Given the description of an element on the screen output the (x, y) to click on. 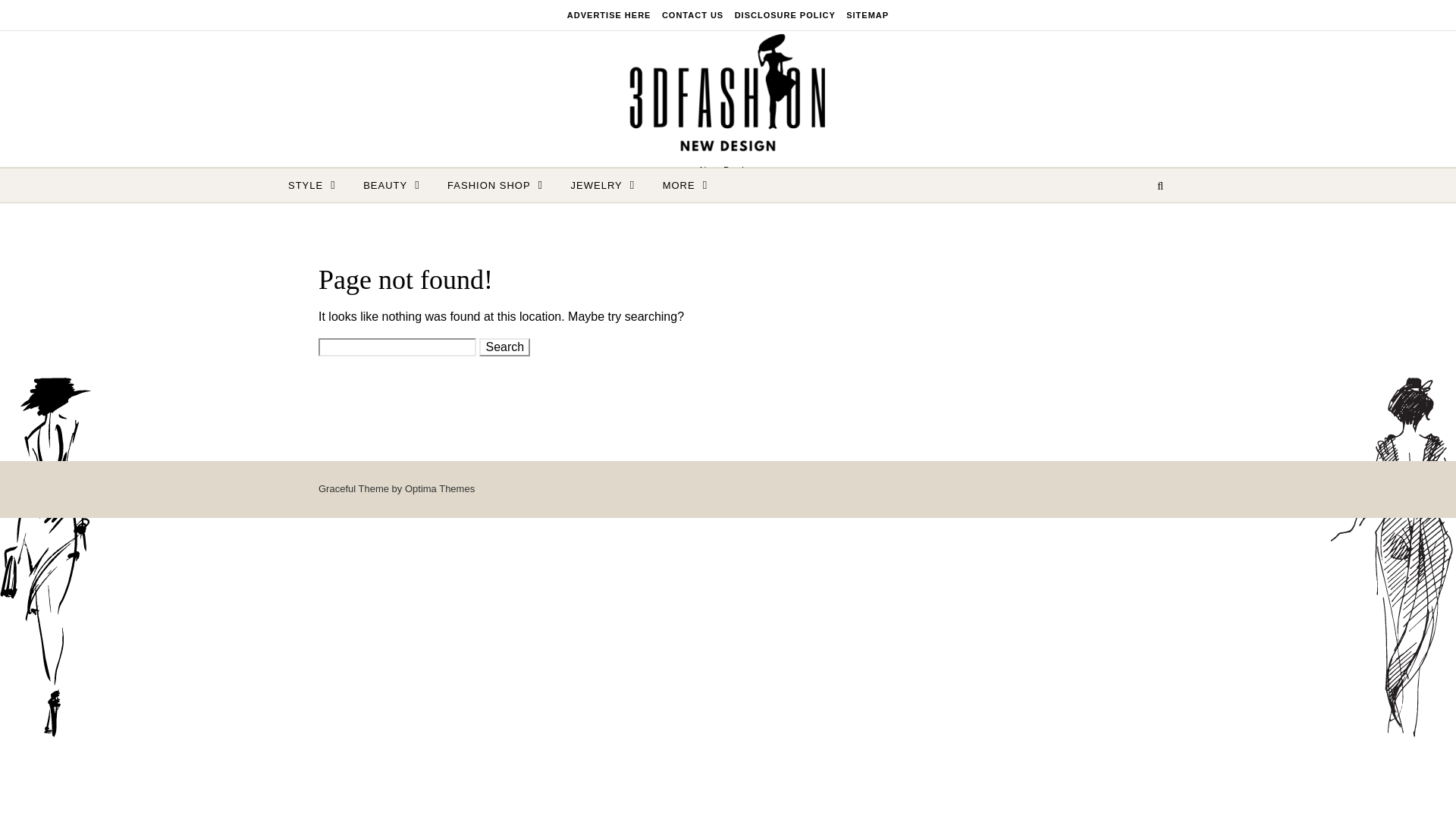
STYLE (317, 185)
MORE (678, 185)
FASHION SHOP (494, 185)
SITEMAP (865, 15)
CONTACT US (692, 15)
JEWELRY (603, 185)
3D FASHION (727, 96)
ADVERTISE HERE (611, 15)
Search (504, 347)
DISCLOSURE POLICY (785, 15)
